Given the description of an element on the screen output the (x, y) to click on. 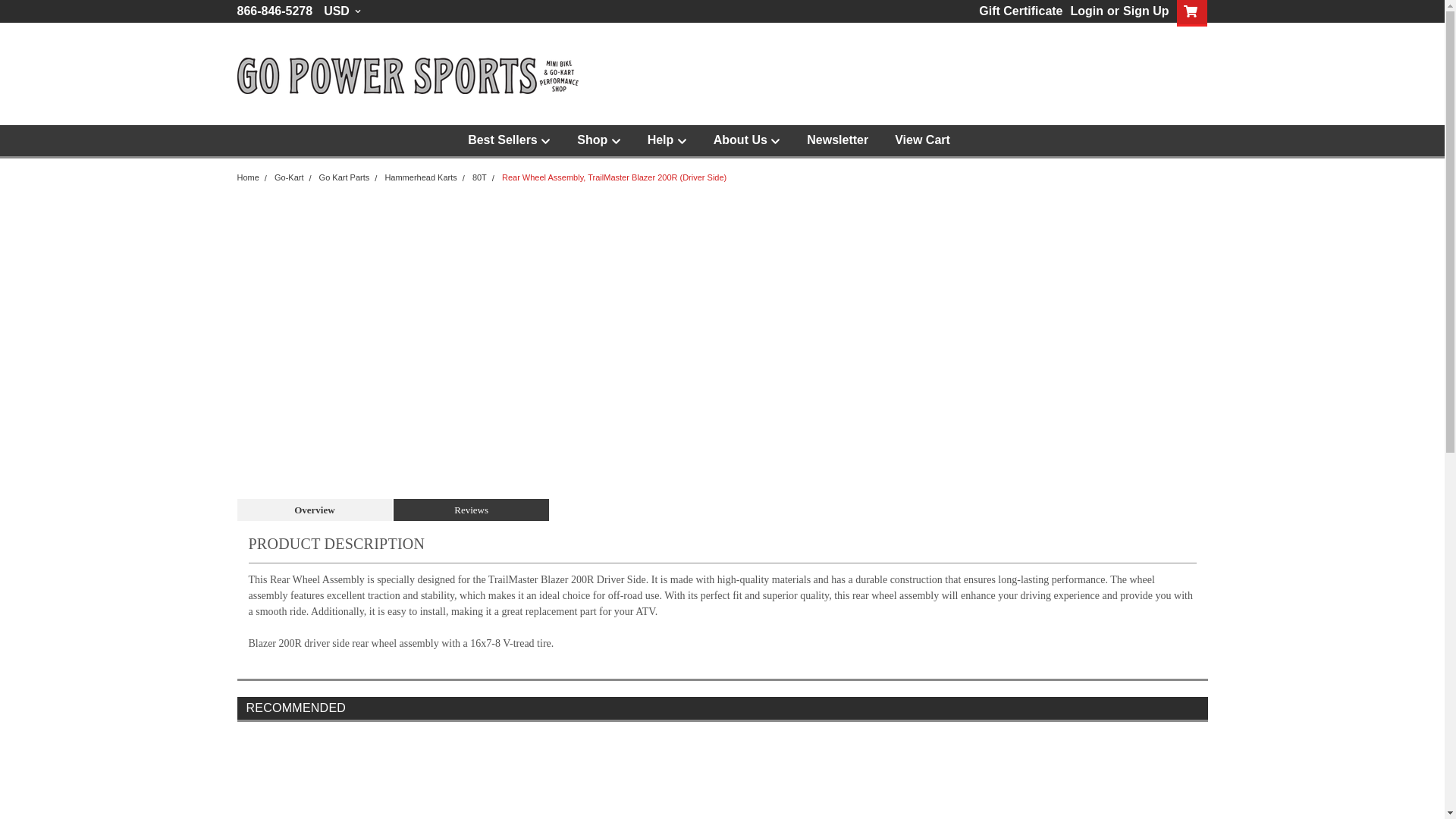
Go Power Sports (406, 75)
Currency Selector (342, 11)
Login (1086, 11)
Sign Up (1144, 11)
Gift Certificate (1016, 11)
USD (342, 11)
